Given the description of an element on the screen output the (x, y) to click on. 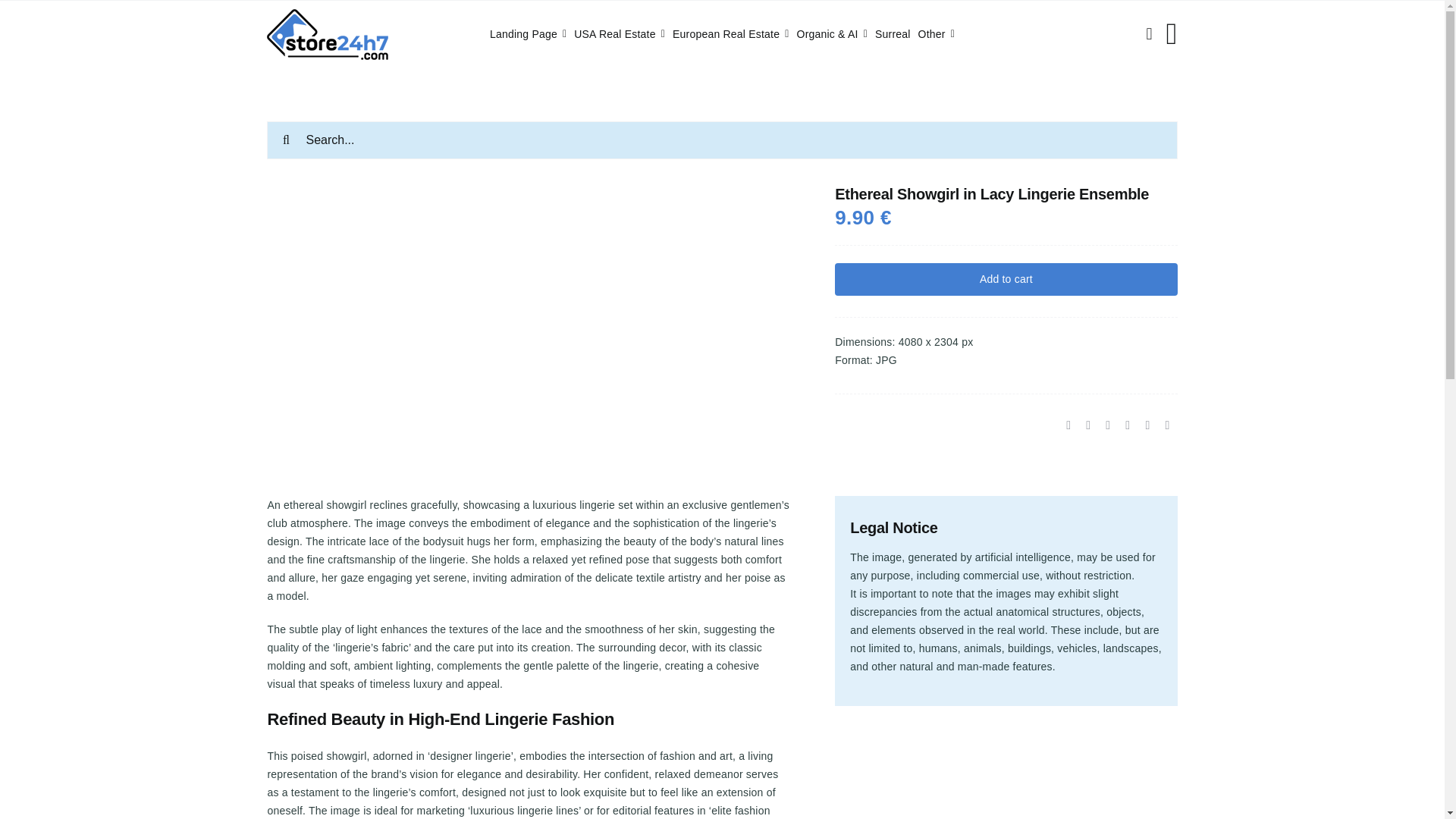
Email (1166, 424)
WhatsApp (1107, 424)
Facebook (1068, 424)
X (1087, 424)
USA Real Estate (619, 34)
Telegram (1127, 424)
Pinterest (1147, 424)
Landing Page (527, 34)
European Real Estate (730, 34)
